Given the description of an element on the screen output the (x, y) to click on. 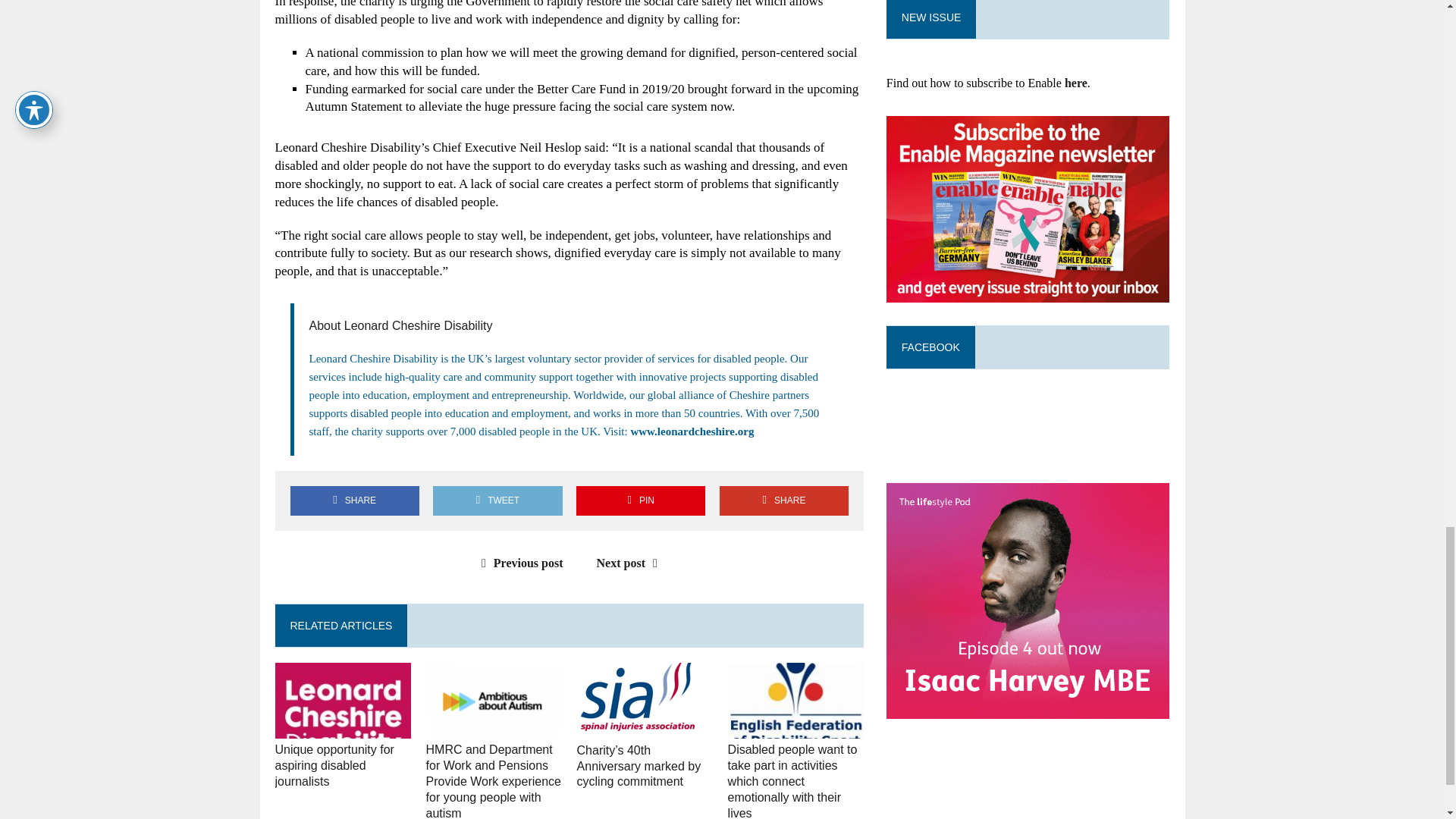
Pin This Post (640, 500)
Tweet This Post (497, 500)
Share on Facebook (354, 500)
Unique opportunity for aspiring disabled journalists (342, 728)
Unique opportunity for aspiring disabled journalists (334, 764)
